Given the description of an element on the screen output the (x, y) to click on. 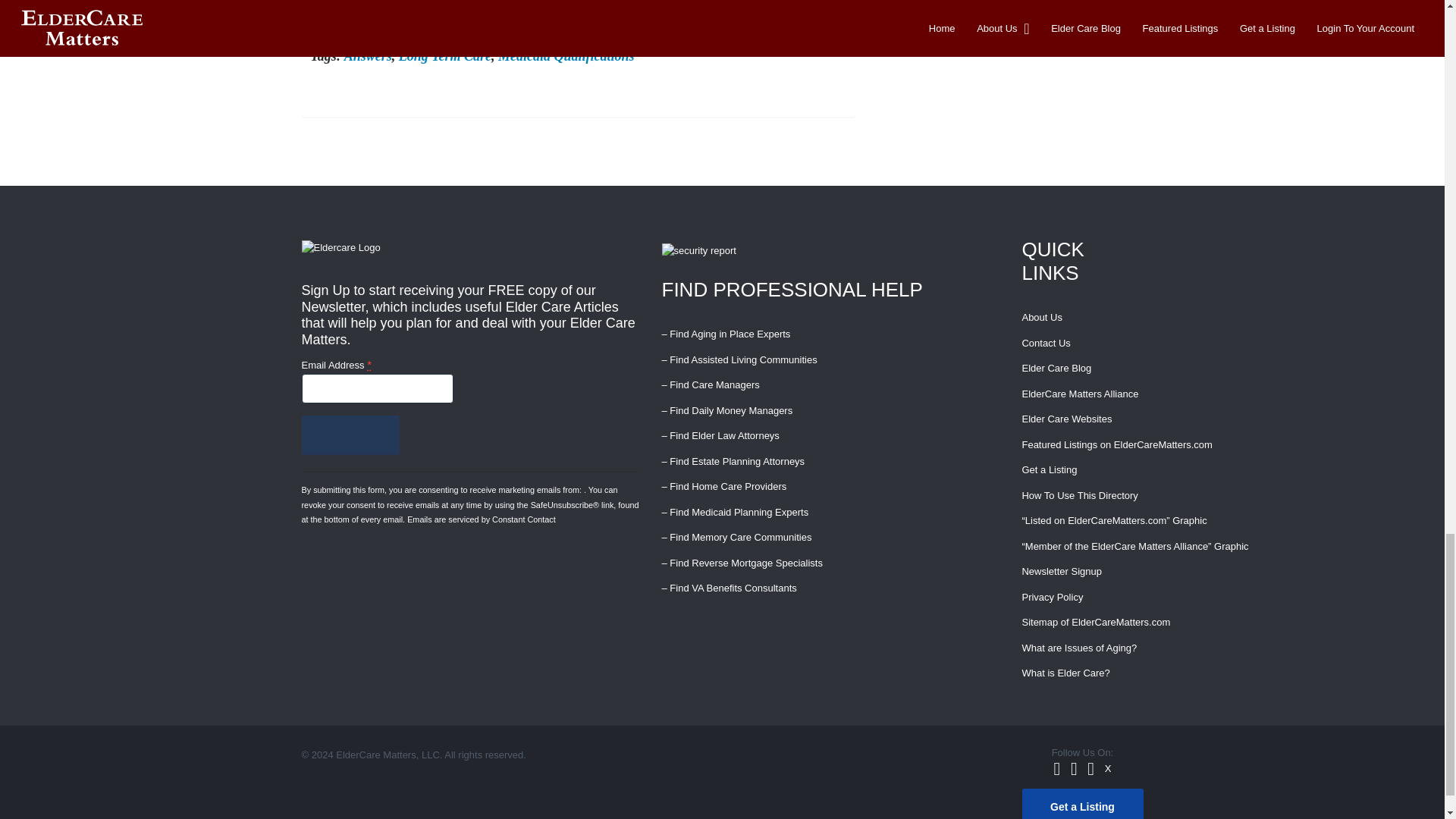
Medicaid (586, 20)
Answers (367, 55)
Sign Up (350, 435)
Applying for Medicaid Benefits (465, 20)
